Given the description of an element on the screen output the (x, y) to click on. 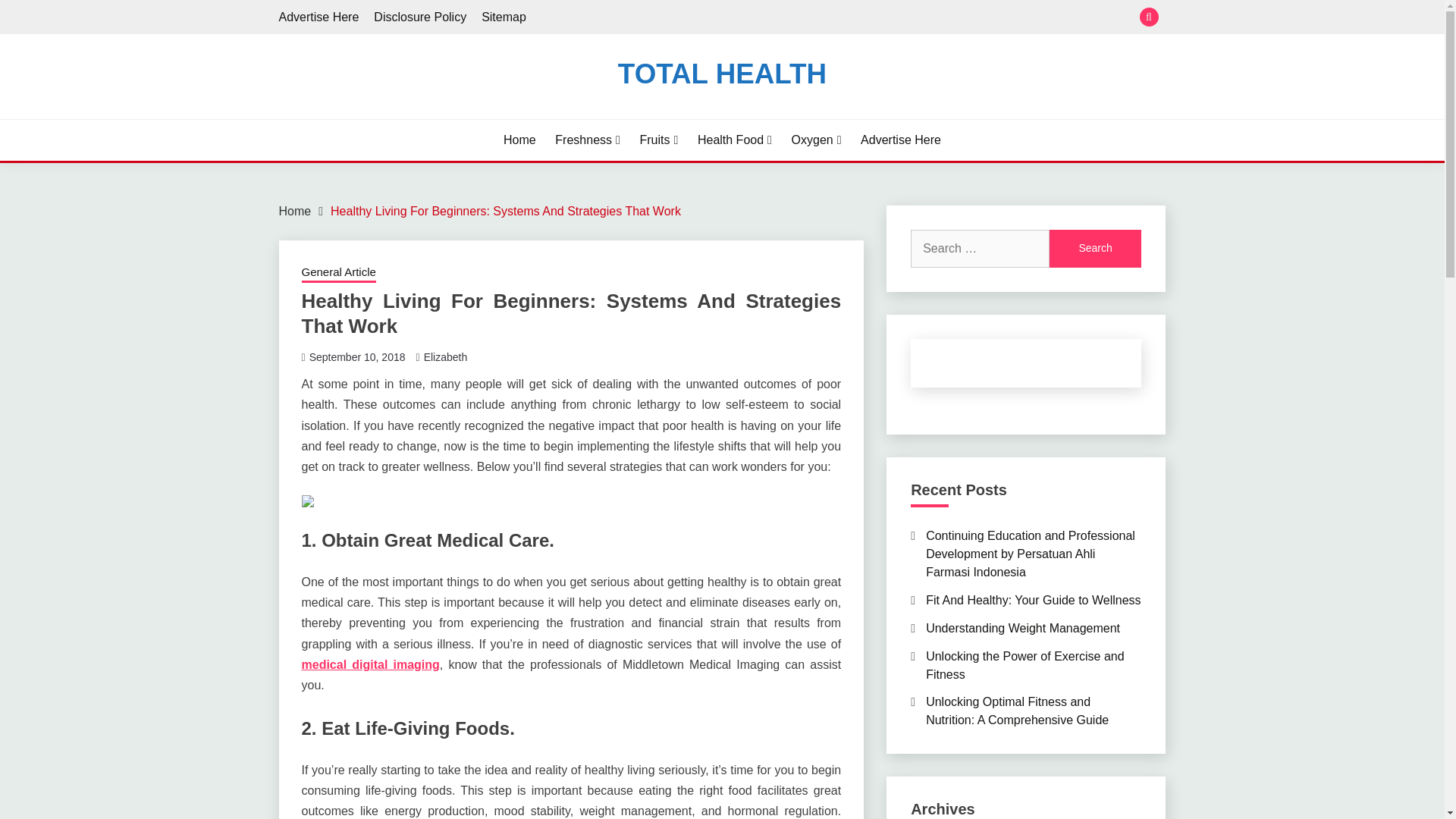
TOTAL HEALTH (722, 73)
Health Food (734, 140)
Advertise Here (900, 140)
Oxygen (816, 140)
Search (832, 18)
Fruits (658, 140)
Home (519, 140)
Sitemap (503, 16)
Disclosure Policy (419, 16)
Freshness (587, 140)
Search (1095, 248)
Home (295, 210)
Search (1095, 248)
Advertise Here (319, 16)
